Given the description of an element on the screen output the (x, y) to click on. 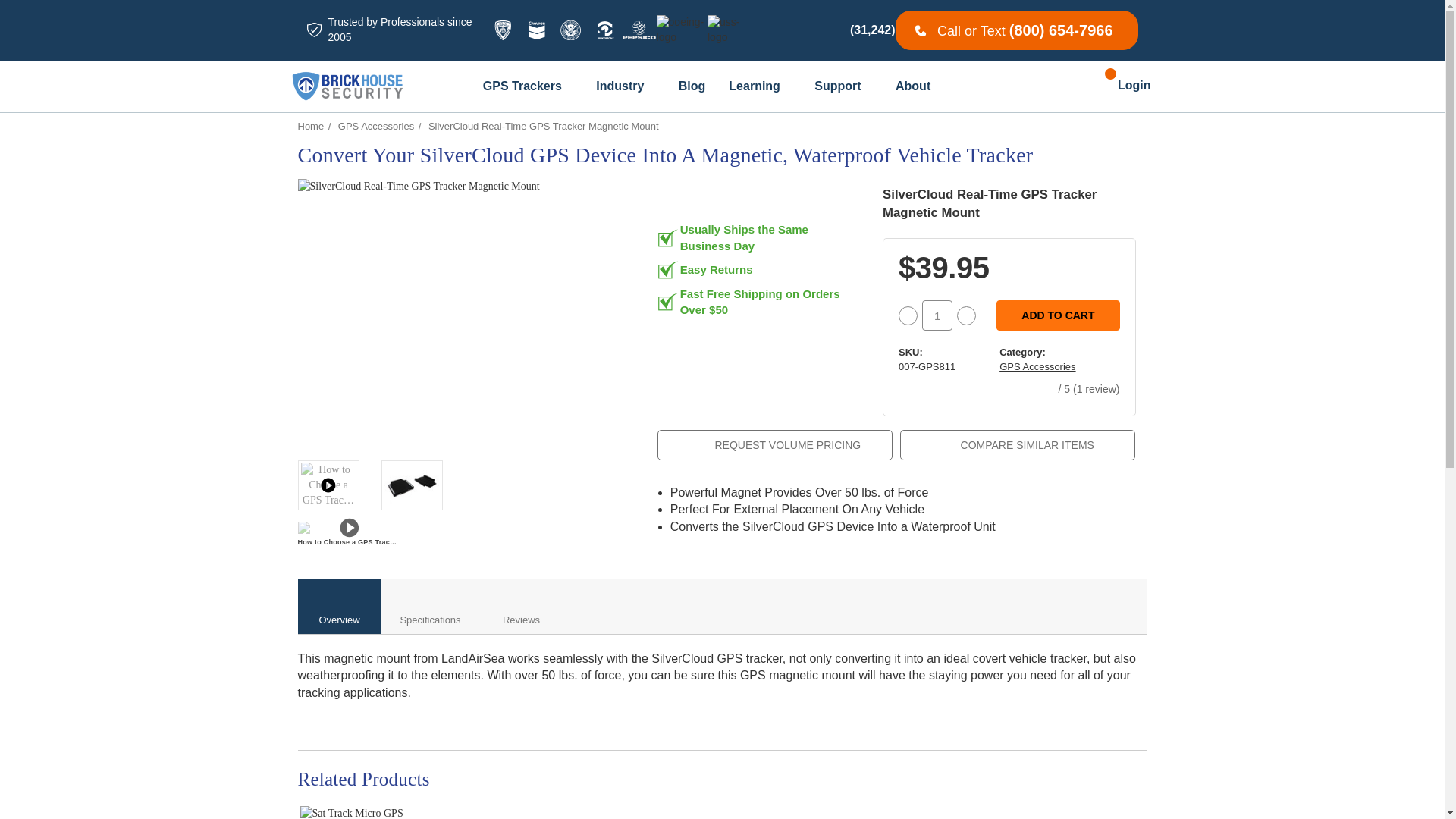
SilverCloud Real-Time GPS Tracker Magnetic Mount (460, 309)
Blog (694, 86)
Industry (628, 86)
4.6 Overall Satisfaction Rating (803, 29)
Add to Cart (1057, 315)
based on (800, 29)
Learning (763, 86)
SilverCloud Real-Time GPS Tracker Magnetic Mount (411, 484)
BrickHouse Security (347, 86)
1 (936, 315)
GPS Trackers (531, 86)
